Given the description of an element on the screen output the (x, y) to click on. 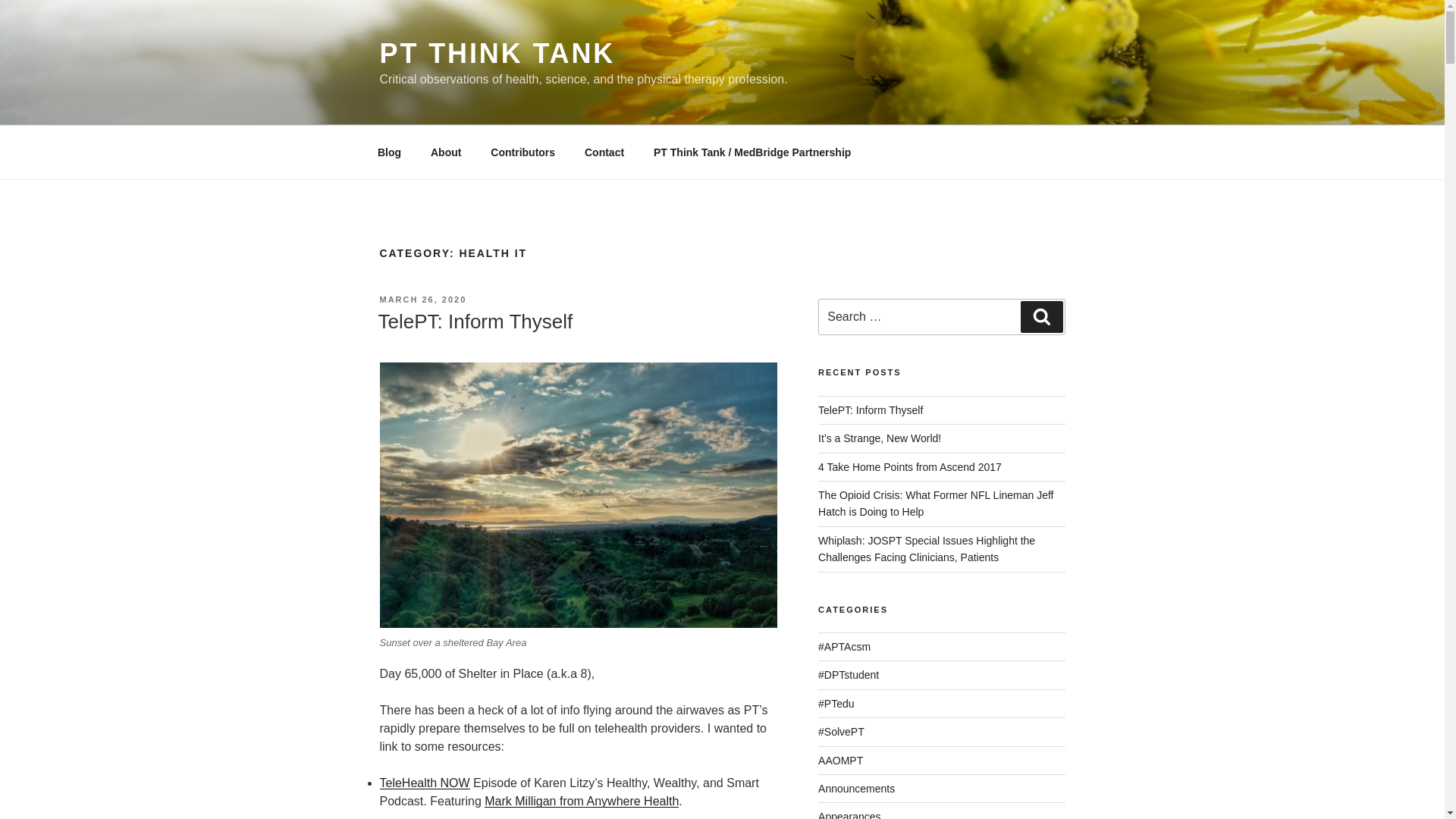
Mark Milligan from Anywhere Health (581, 800)
About (445, 151)
TeleHealth NOW (423, 782)
Blog (388, 151)
PT THINK TANK (496, 52)
Contact (603, 151)
Contributors (523, 151)
TelePT: Inform Thyself (474, 321)
MARCH 26, 2020 (421, 298)
